Given the description of an element on the screen output the (x, y) to click on. 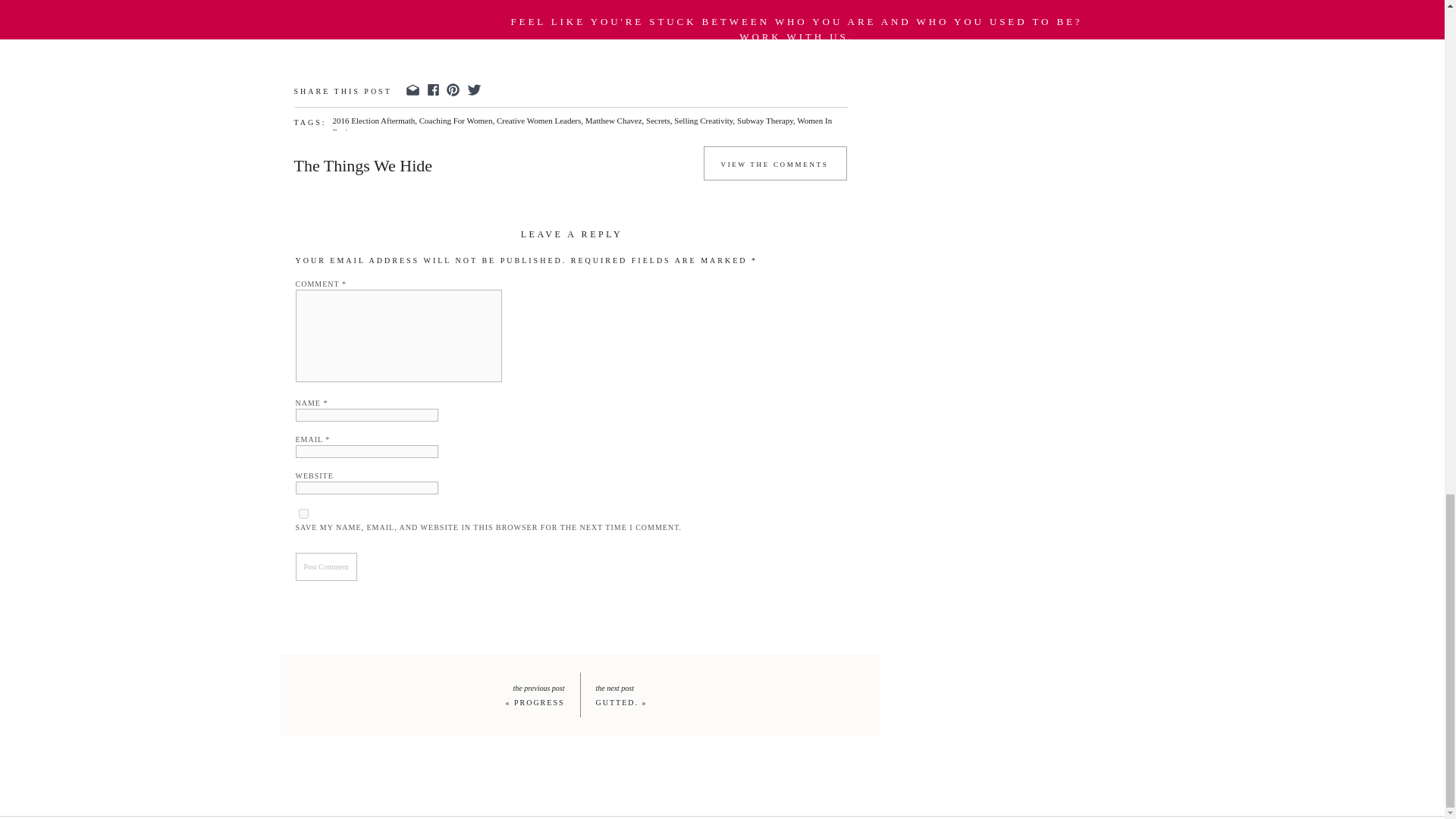
yes (303, 513)
VIEW THE COMMENTS (774, 167)
Post Comment (325, 566)
Selling Creativity (703, 120)
Subway Therapy (764, 120)
Creative Women Leaders (538, 120)
Post Comment (325, 566)
2016 Election Aftermath (372, 120)
Coaching For Women (456, 120)
Secrets (657, 120)
the next post (695, 687)
GUTTED. (617, 702)
Women In Business (581, 126)
the previous post (504, 687)
PROGRESS (538, 702)
